Given the description of an element on the screen output the (x, y) to click on. 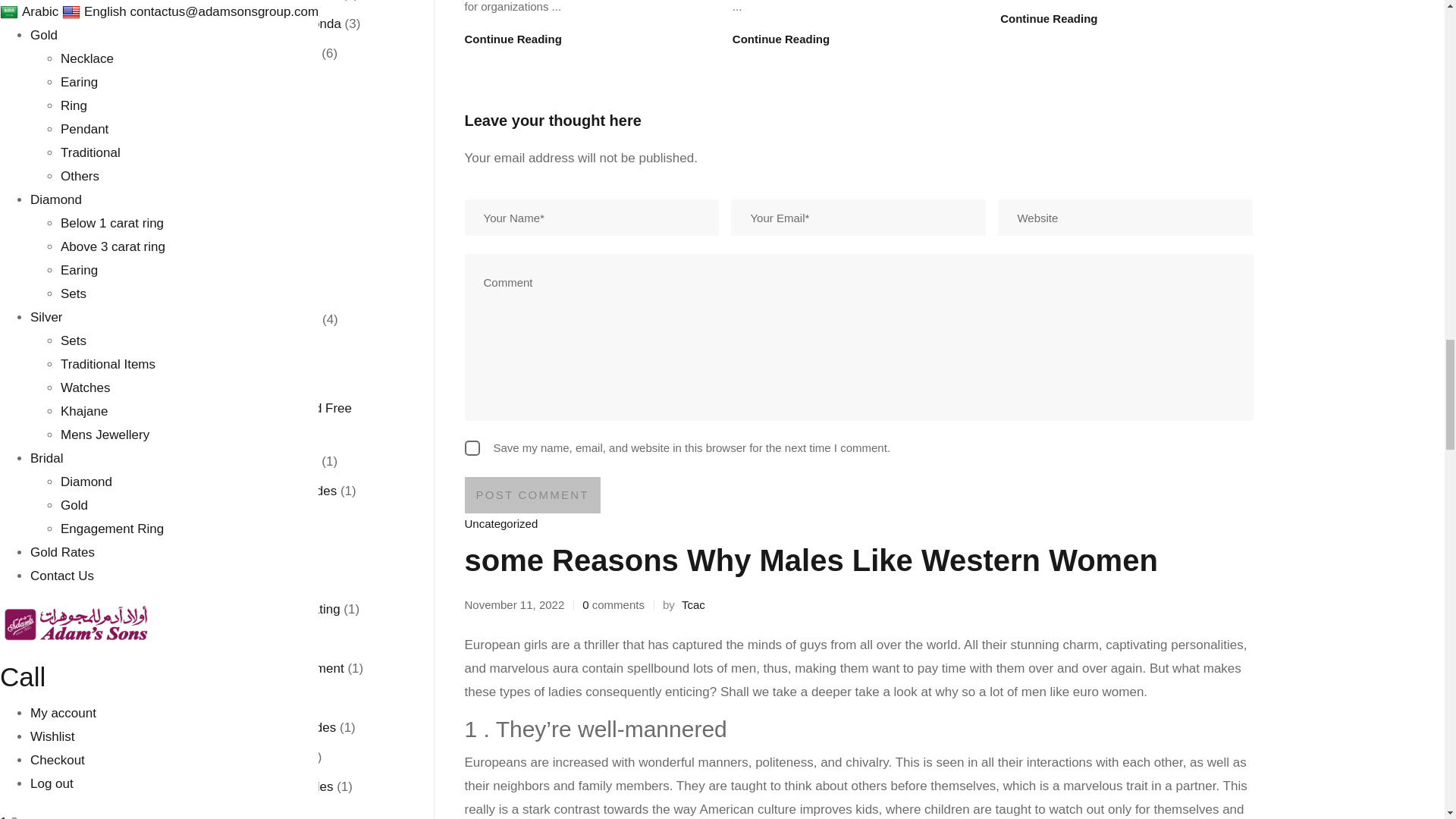
Post Comment (531, 494)
